Given the description of an element on the screen output the (x, y) to click on. 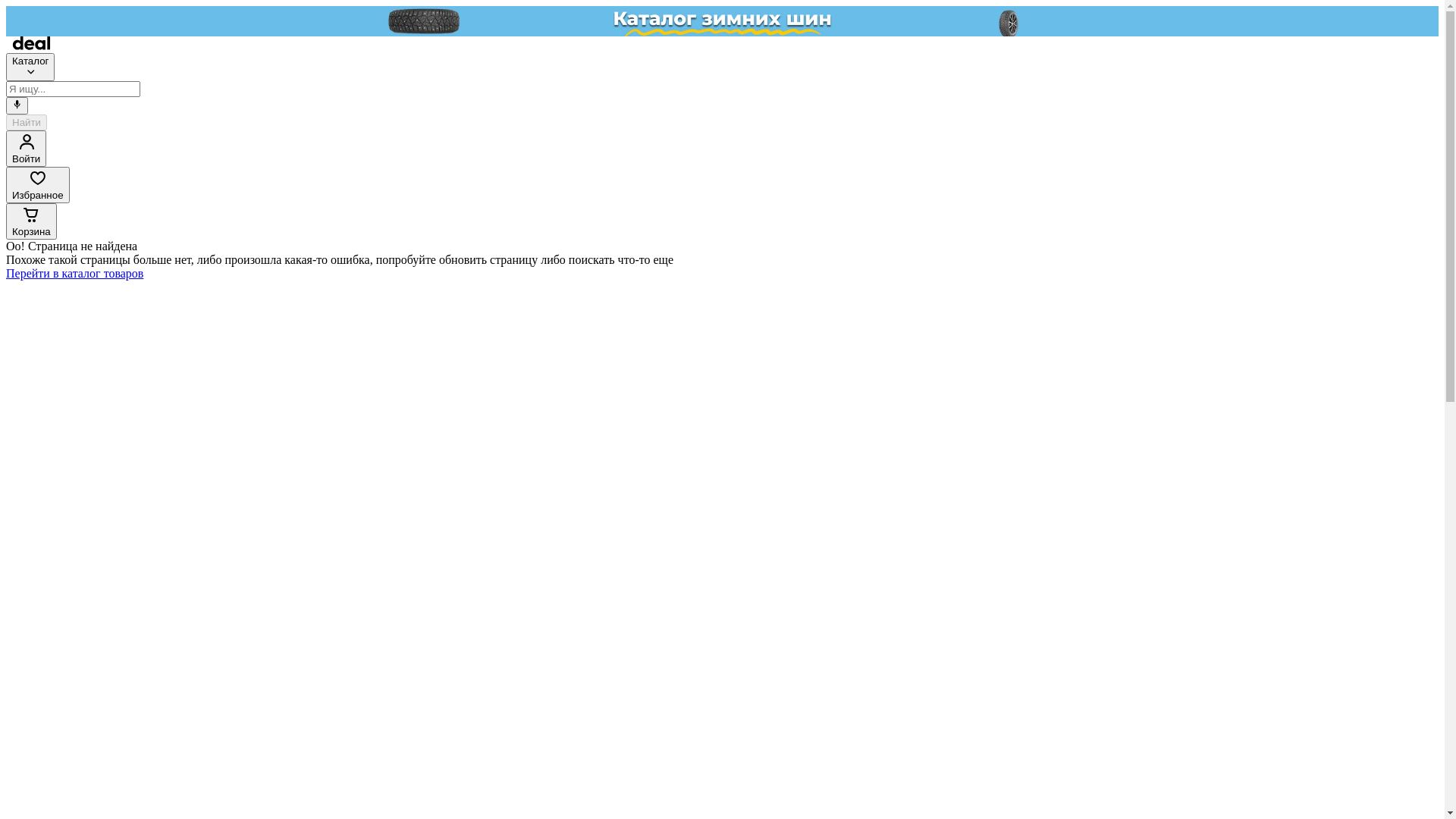
deal.by Element type: hover (31, 45)
